Given the description of an element on the screen output the (x, y) to click on. 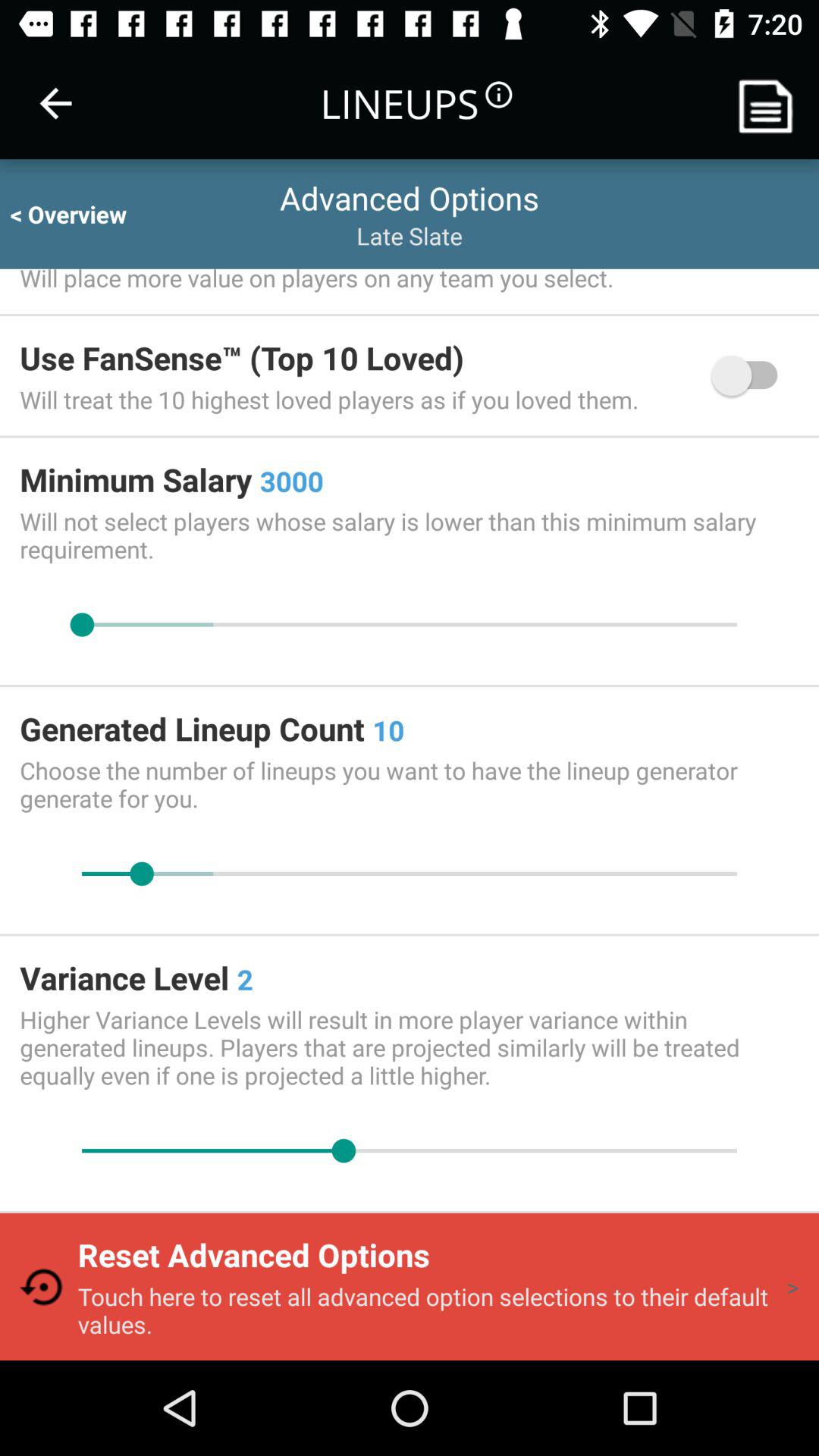
jump until the < overview (81, 214)
